Given the description of an element on the screen output the (x, y) to click on. 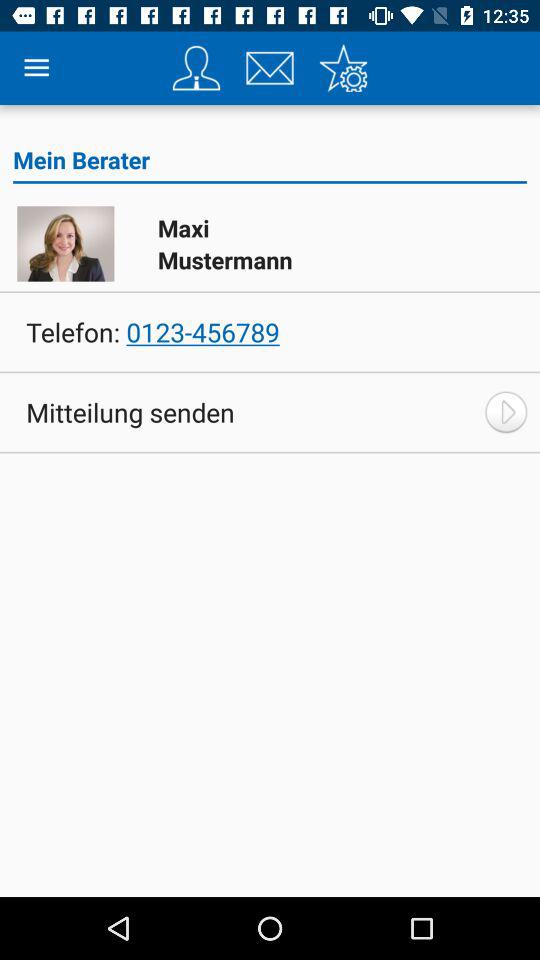
contacts (196, 67)
